Given the description of an element on the screen output the (x, y) to click on. 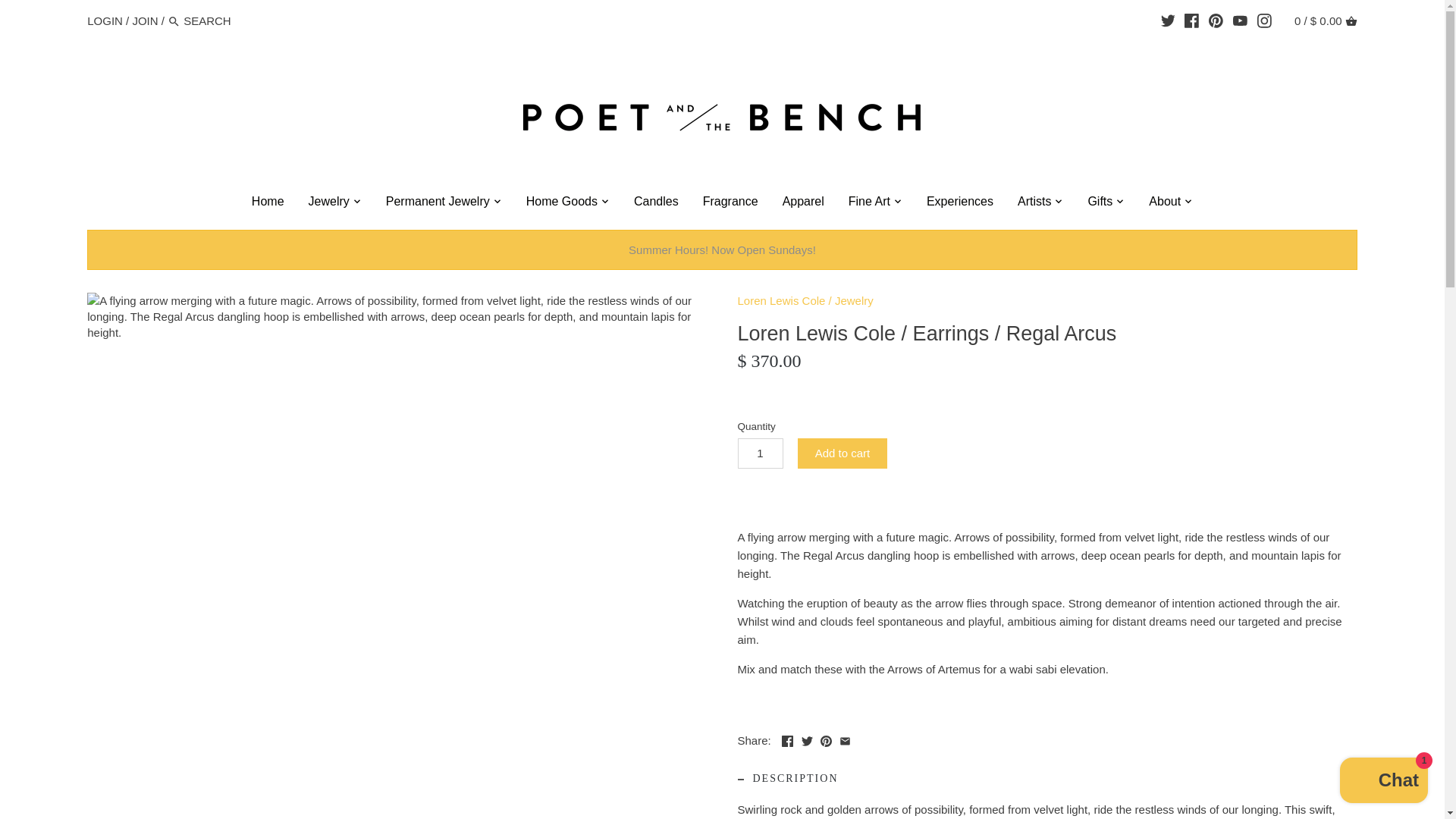
LOGIN (104, 19)
PINTEREST (1215, 20)
JOIN (144, 19)
Home Goods (561, 203)
TWITTER (1167, 20)
1 (759, 453)
Search (173, 21)
Jewelry (329, 203)
Facebook (787, 740)
INSTAGRAM (1264, 20)
Permanent Jewelry (438, 203)
FACEBOOK (1191, 20)
Pinterest (826, 740)
CART (1350, 21)
Twitter (807, 740)
